Given the description of an element on the screen output the (x, y) to click on. 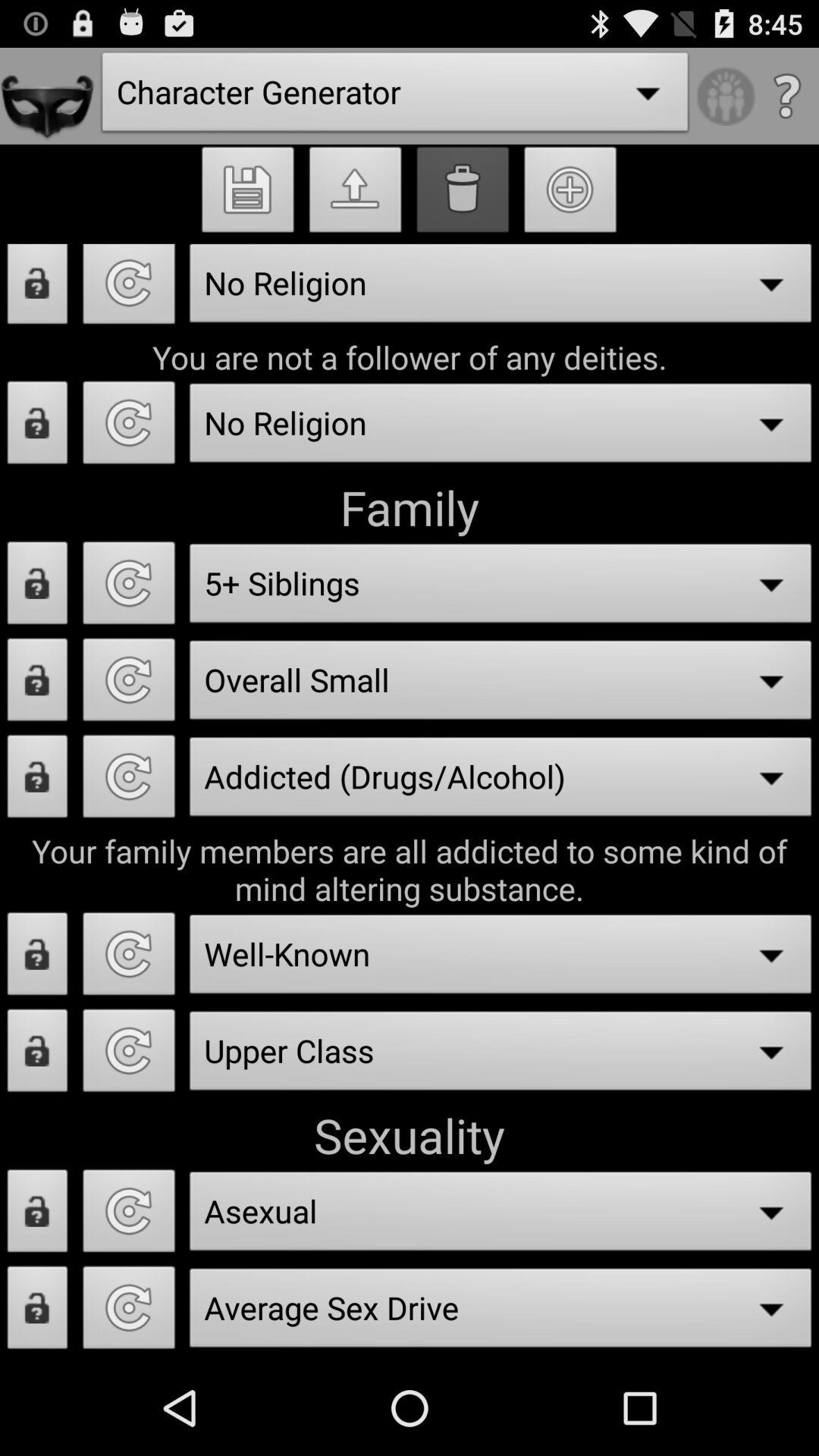
reset feild button (129, 958)
